Given the description of an element on the screen output the (x, y) to click on. 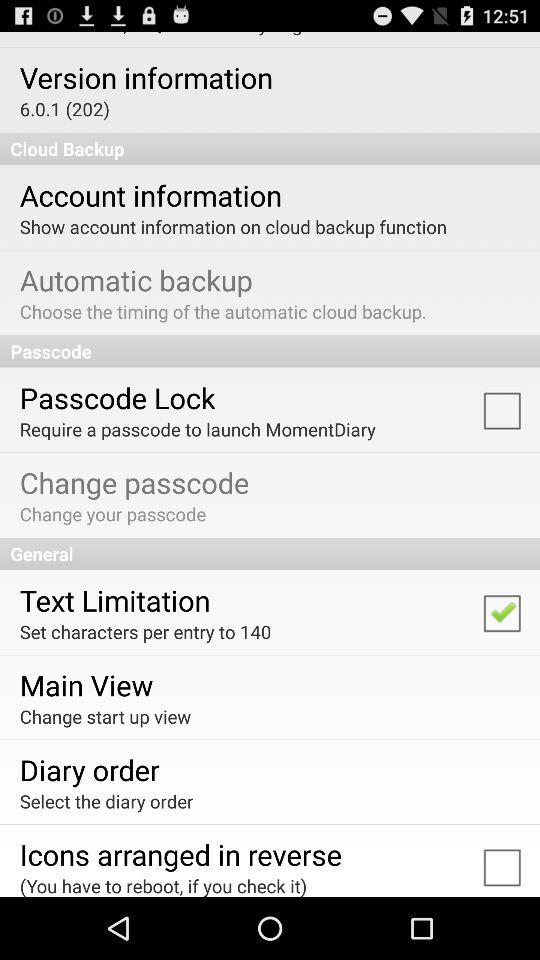
scroll to the you have to item (163, 884)
